Given the description of an element on the screen output the (x, y) to click on. 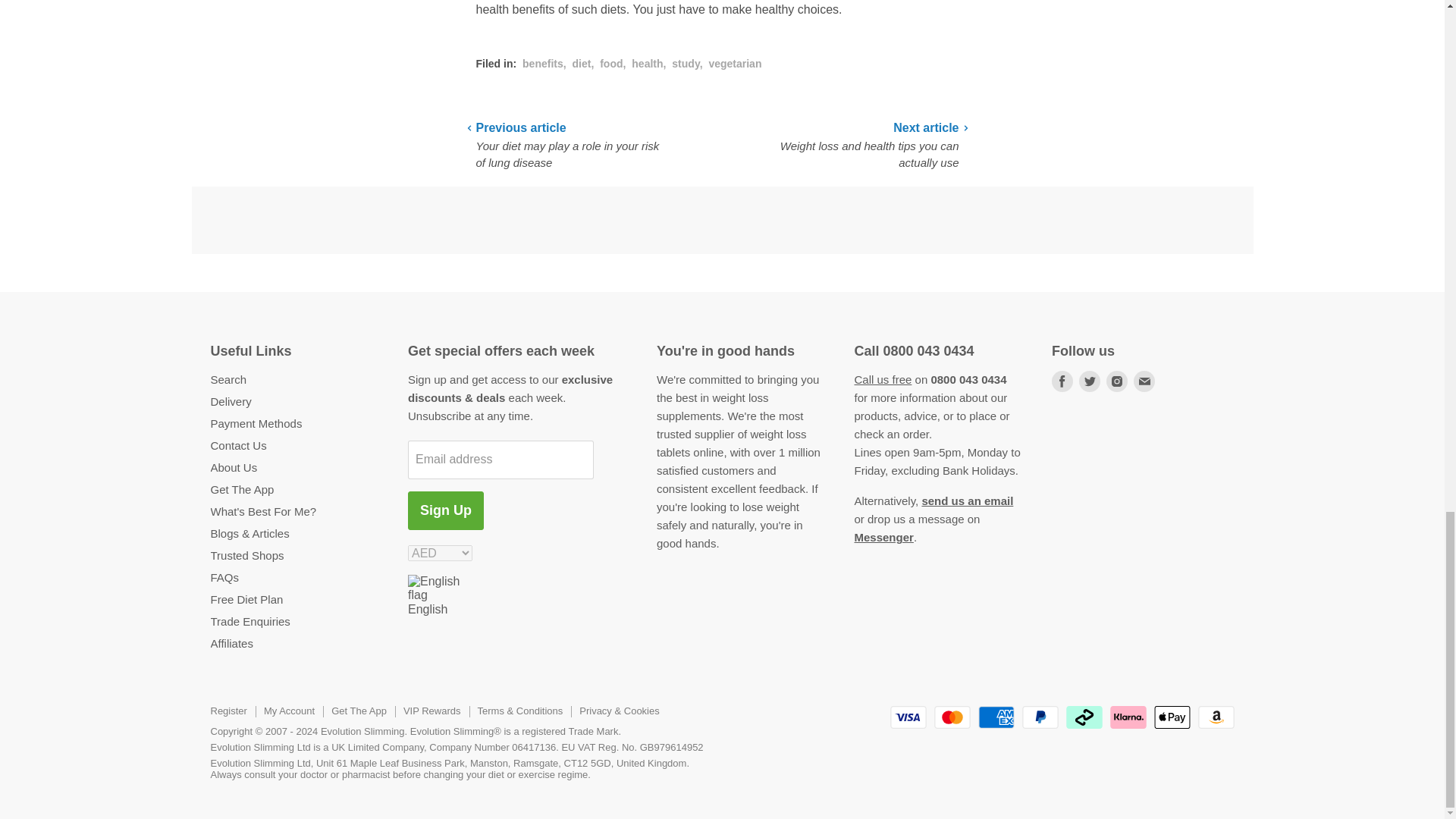
Twitter (1089, 380)
American Express (996, 716)
Show articles tagged diet (581, 63)
Instagram (1117, 380)
Mastercard (952, 716)
Show articles tagged vegetarian (734, 63)
E-mail (1144, 380)
Contact Us (967, 500)
Show articles tagged food (611, 63)
Contact Us (882, 379)
